Given the description of an element on the screen output the (x, y) to click on. 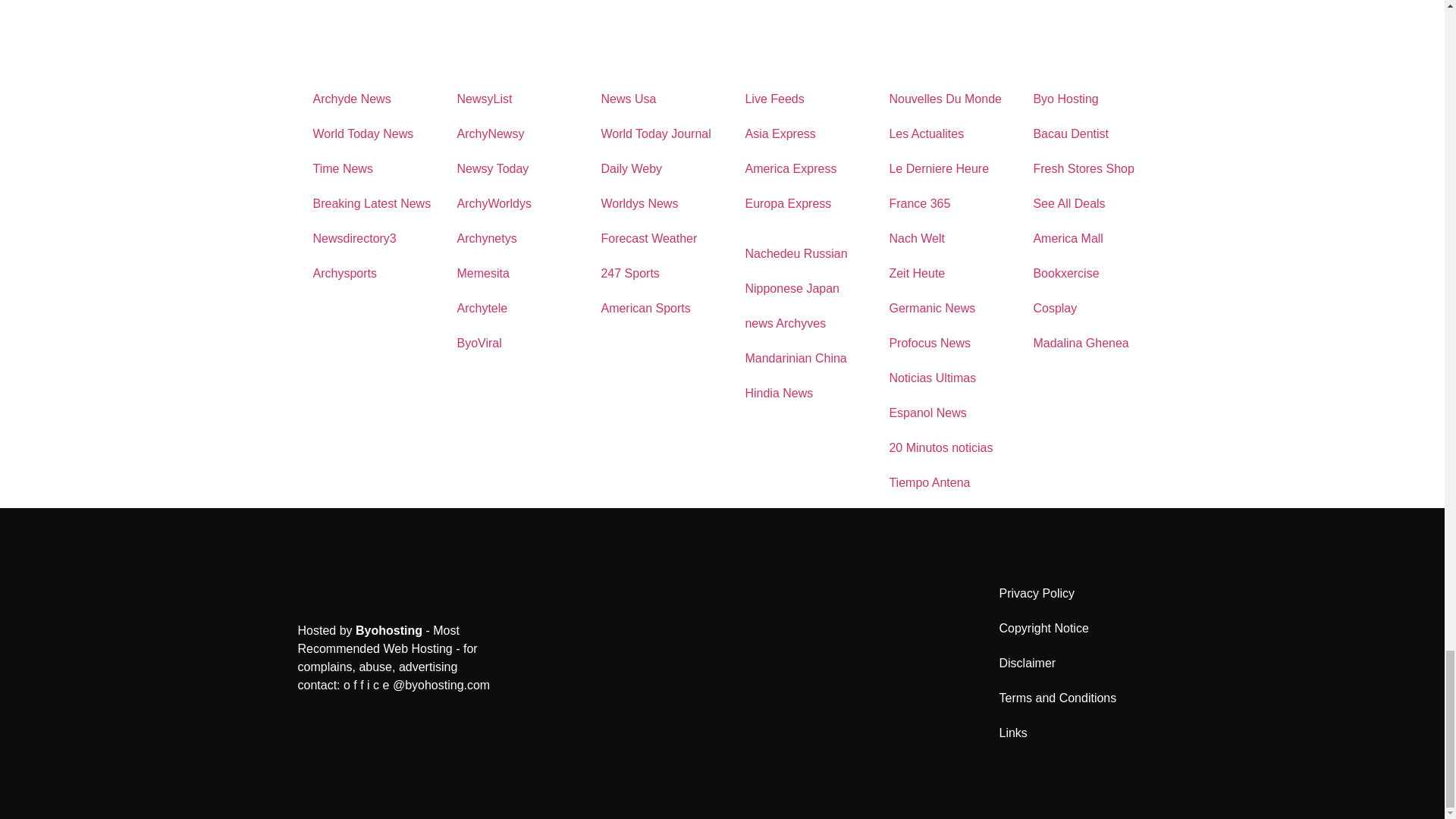
Most Recommended WebHosting (388, 630)
